Given the description of an element on the screen output the (x, y) to click on. 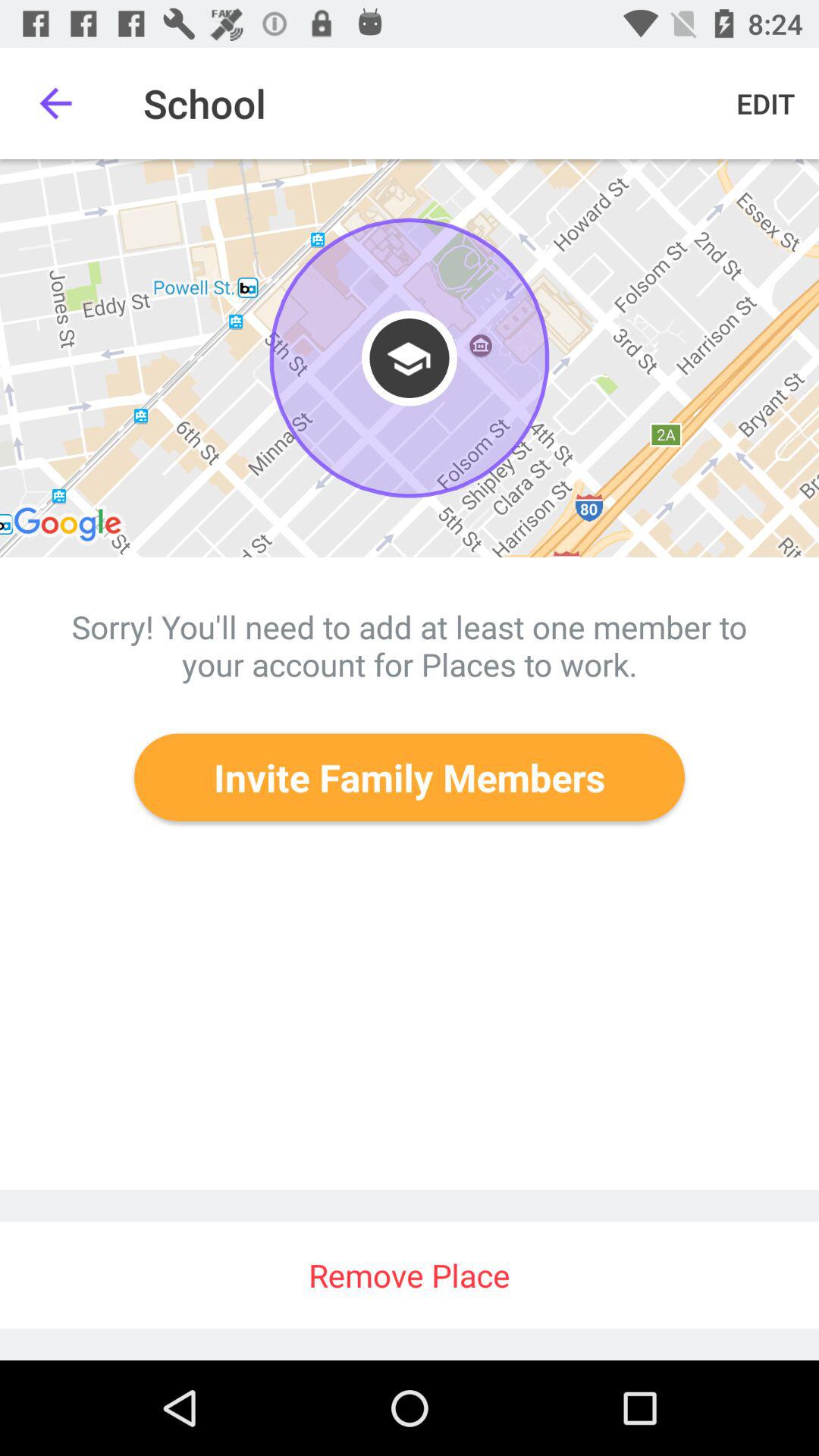
click the icon to the left of the school (55, 103)
